Given the description of an element on the screen output the (x, y) to click on. 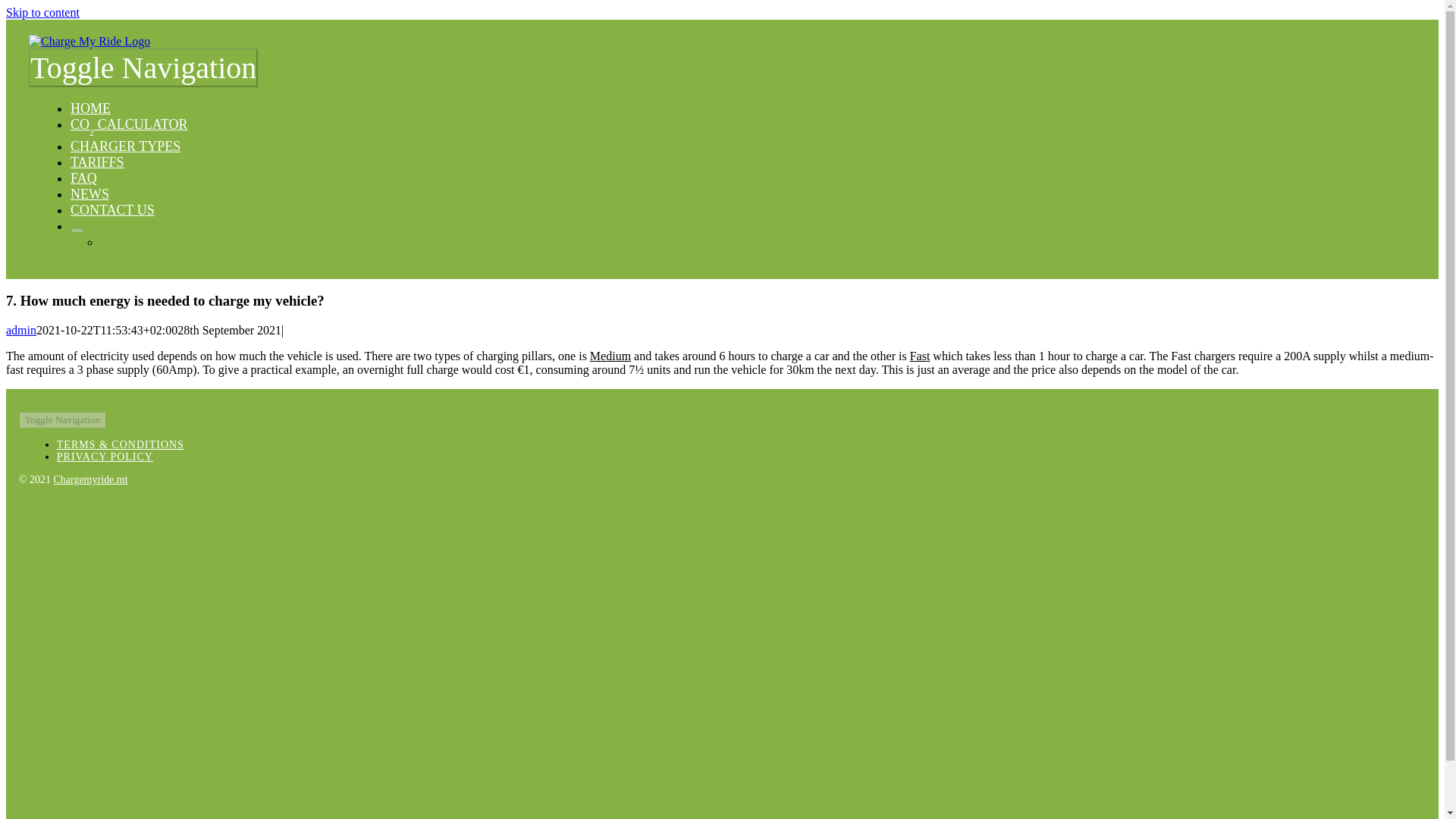
TARIFFS (96, 161)
admin (20, 329)
Posts by admin (20, 329)
NEWS (89, 193)
PRIVACY POLICY (104, 456)
Toggle Navigation (143, 67)
CONTACT US (111, 209)
CHARGER TYPES (124, 145)
Toggle Navigation (62, 419)
HOME (89, 108)
Chargemyride.mt (90, 479)
Skip to content (42, 11)
FAQ (83, 177)
eu-logos (265, 743)
CO2 CALCULATOR (128, 124)
